Given the description of an element on the screen output the (x, y) to click on. 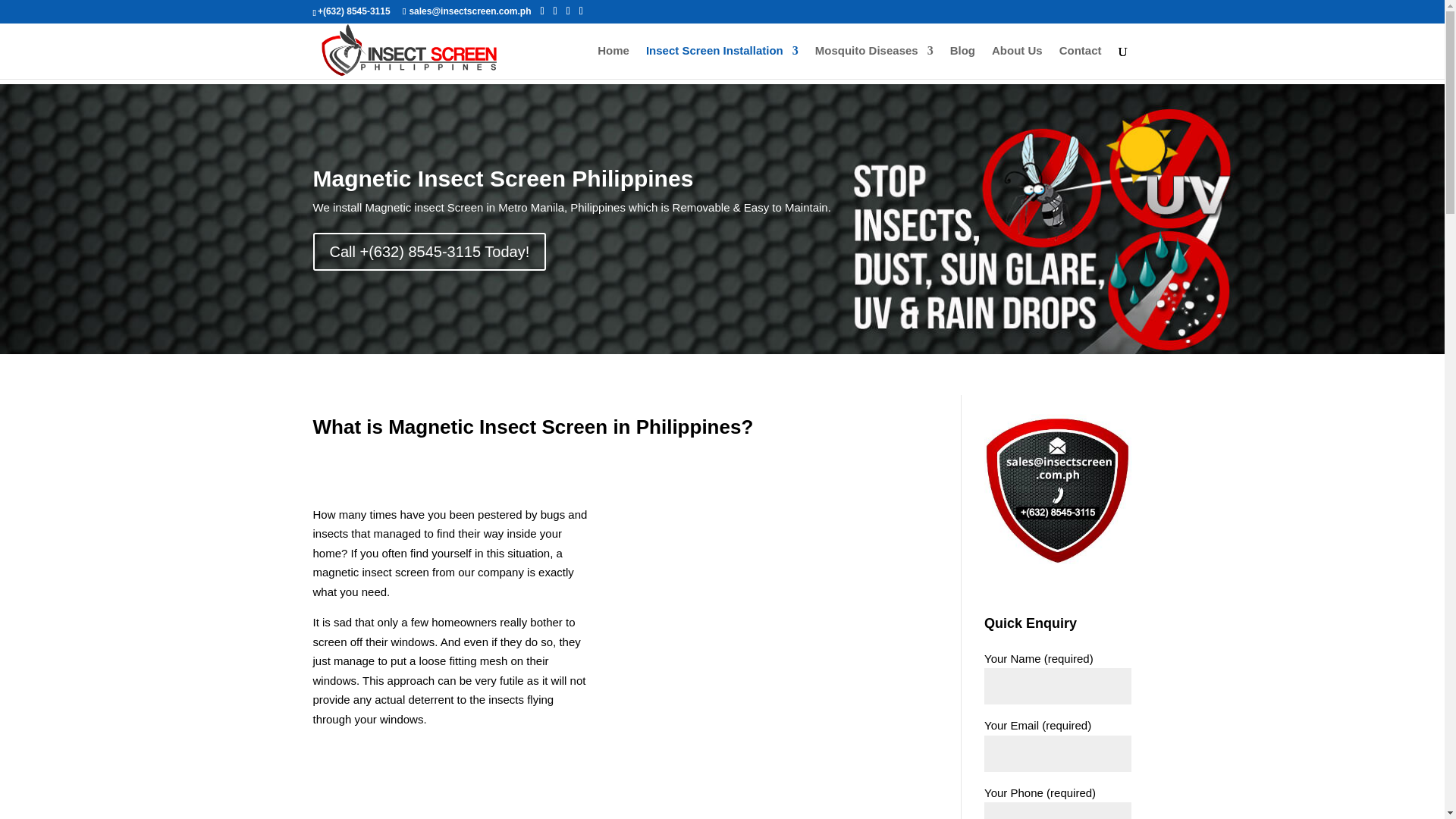
Home (612, 61)
Insect Screen Installation (721, 61)
Contact (1080, 61)
About Us (1016, 61)
Mosquito Diseases (874, 61)
